Given the description of an element on the screen output the (x, y) to click on. 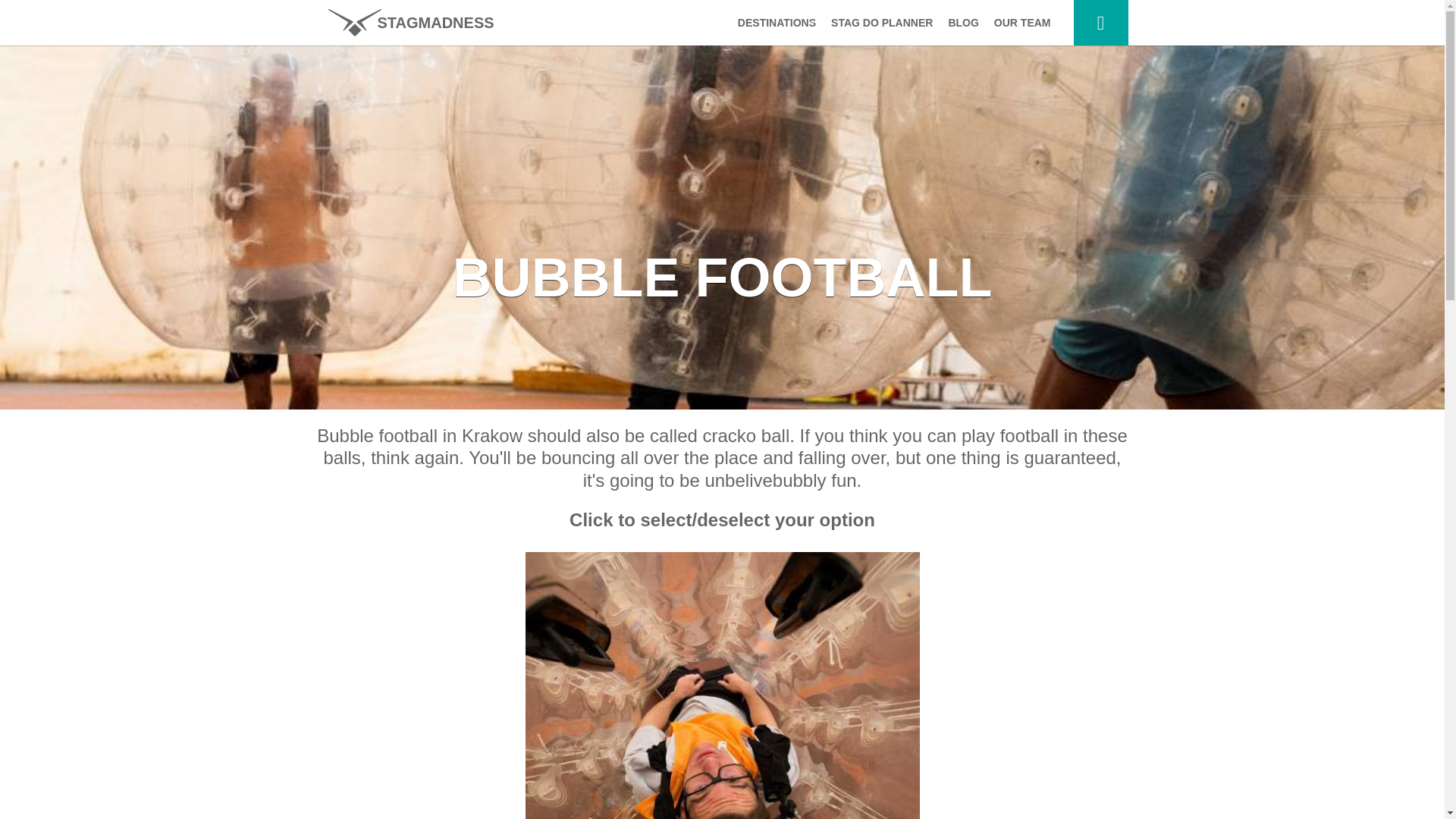
Stag Do Planner (882, 22)
KRAKOW (773, 212)
Your  stag do builder (1101, 22)
BLOG (962, 22)
Blog (962, 22)
BRATISLAVA (773, 182)
AMSTERDAM (773, 121)
STAGMADNESS (409, 22)
RIGA (773, 272)
Stag do Krakow (409, 22)
Our stag do organizer team in  (1022, 22)
BERLIN (773, 242)
BUDAPEST (773, 60)
PRAGUE (773, 91)
STAG DO PLANNER (882, 22)
